Given the description of an element on the screen output the (x, y) to click on. 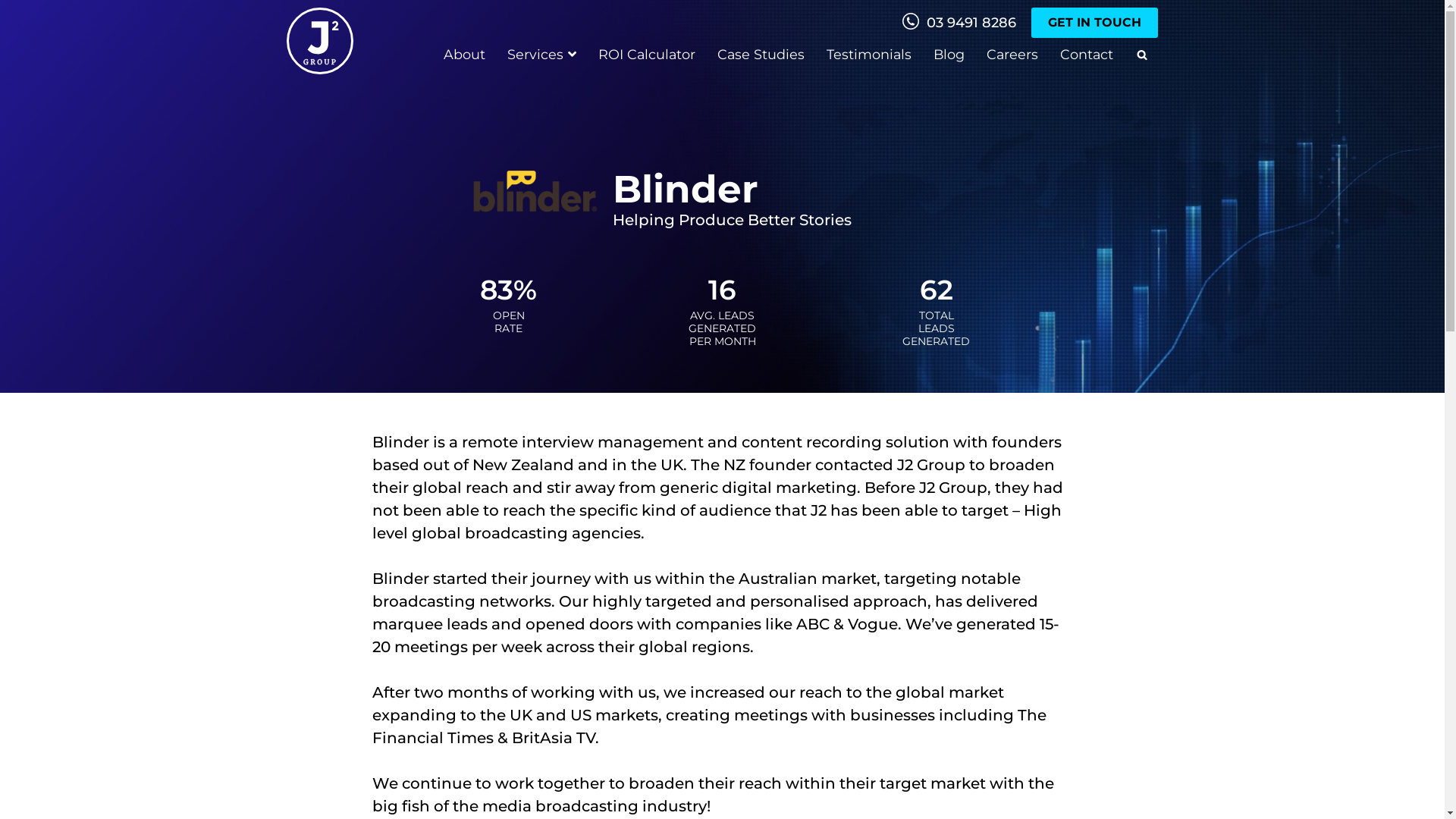
About Element type: text (464, 54)
Blog Element type: text (948, 54)
Services Element type: text (541, 54)
Careers Element type: text (1012, 54)
Contact Element type: text (1086, 54)
ROI Calculator Element type: text (646, 54)
GET IN TOUCH Element type: text (1094, 22)
Case Studies Element type: text (760, 54)
j2group-logo Element type: hover (319, 40)
Testimonials Element type: text (868, 54)
03 9491 8286 Element type: text (959, 22)
